Given the description of an element on the screen output the (x, y) to click on. 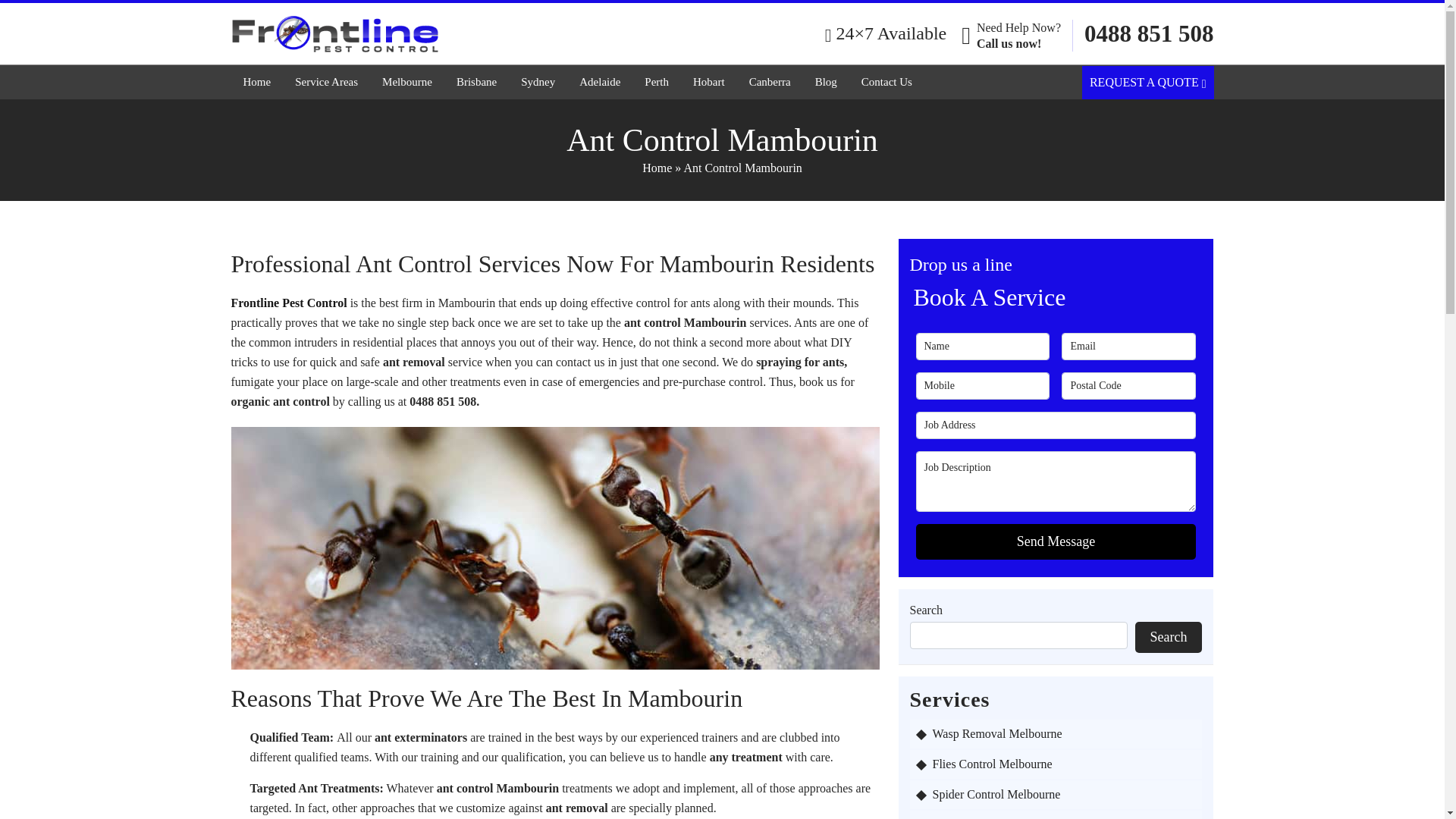
Send Message (1055, 541)
Home (256, 81)
Melbourne (407, 81)
Service Areas (326, 81)
0488 851 508 (1149, 34)
